Given the description of an element on the screen output the (x, y) to click on. 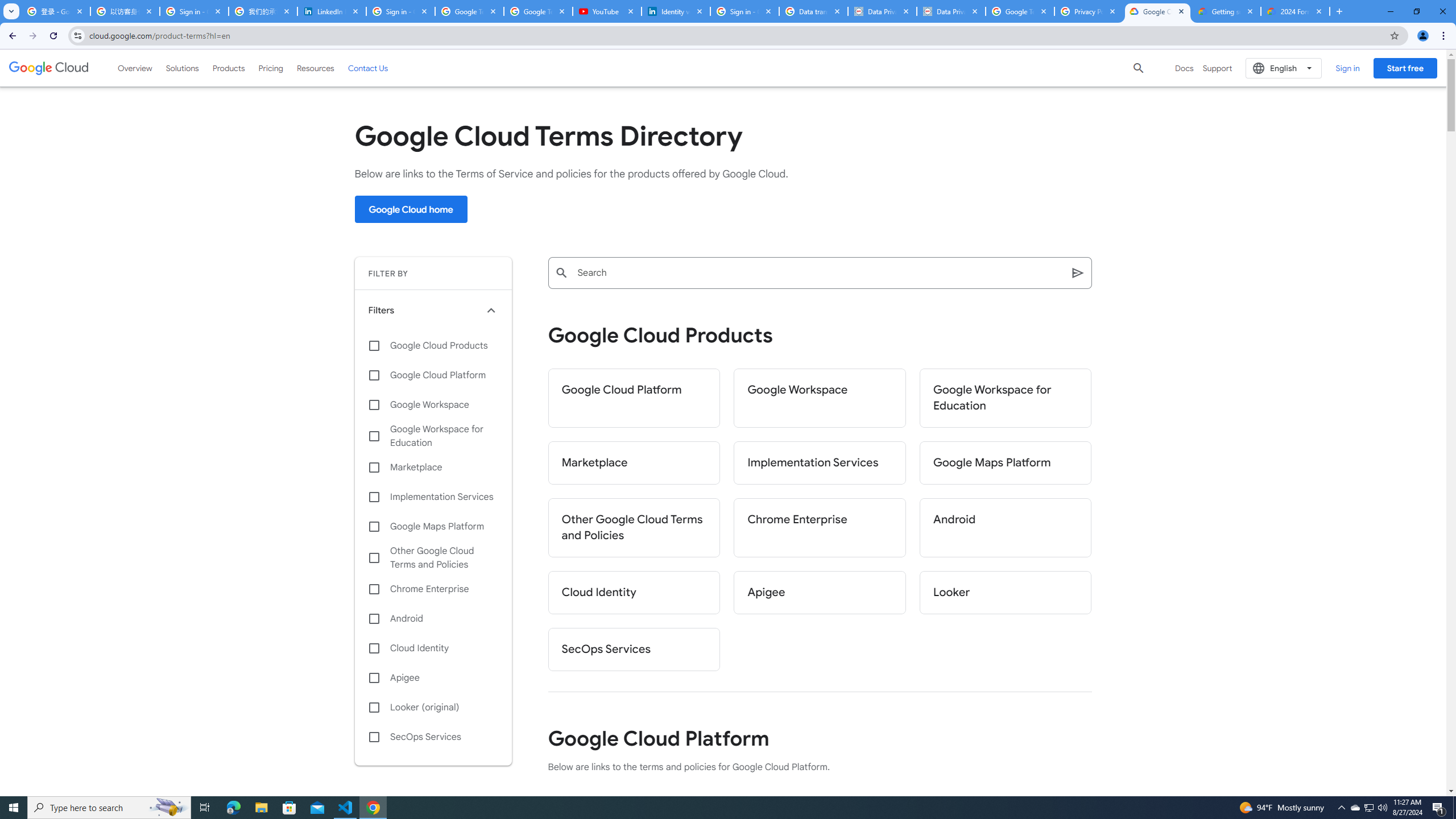
Android (1005, 527)
LinkedIn Privacy Policy (331, 11)
Sign in (1347, 67)
Data Privacy Framework (882, 11)
SecOps Services (432, 736)
Resources (314, 67)
Overview (135, 67)
Implementation Services (819, 462)
Looker (1005, 592)
Bookmark this tab (1393, 35)
Sign in - Google Accounts (194, 11)
SecOps Services (633, 649)
